Given the description of an element on the screen output the (x, y) to click on. 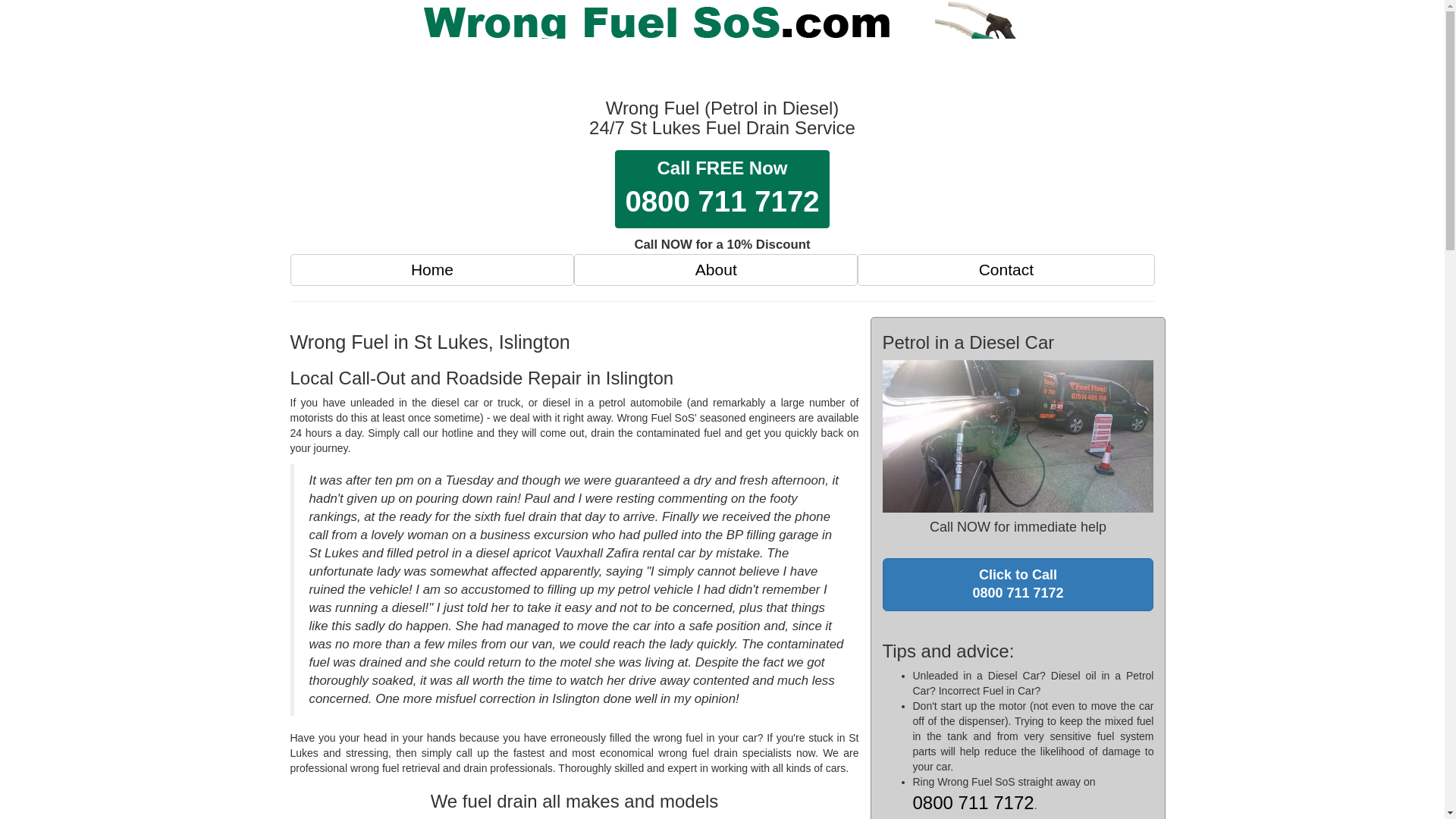
About (721, 188)
Home (716, 269)
0800 711 7172 (432, 269)
Contact (972, 805)
